Given the description of an element on the screen output the (x, y) to click on. 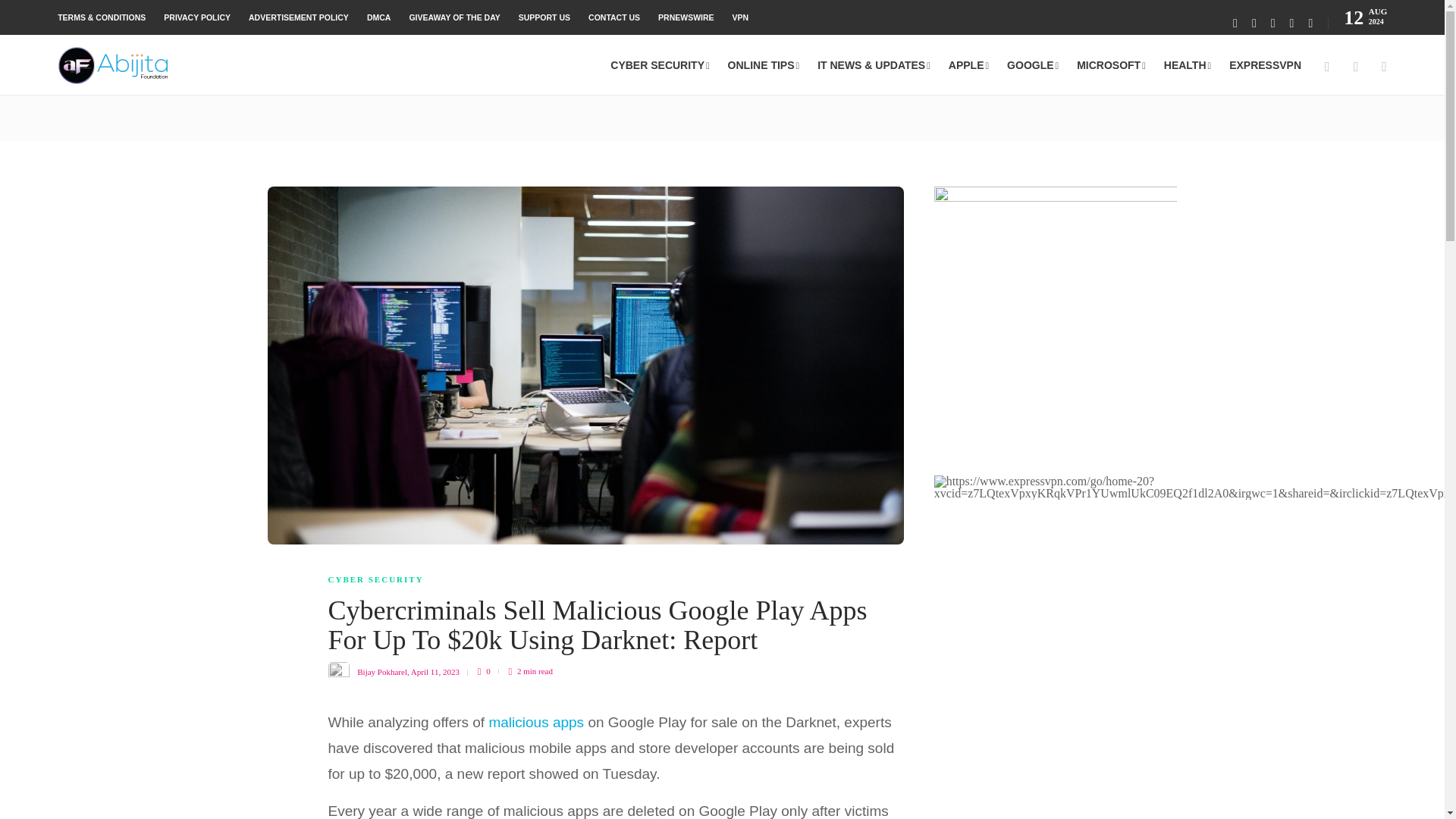
SUPPORT US (544, 17)
ADVERTISEMENT POLICY (298, 17)
MICROSOFT (1111, 65)
EXPRESSVPN (1264, 65)
ONLINE TIPS (763, 65)
GIVEAWAY OF THE DAY (454, 17)
PRIVACY POLICY (196, 17)
CYBER SECURITY (659, 65)
CONTACT US (614, 17)
GOOGLE (1032, 65)
